Given the description of an element on the screen output the (x, y) to click on. 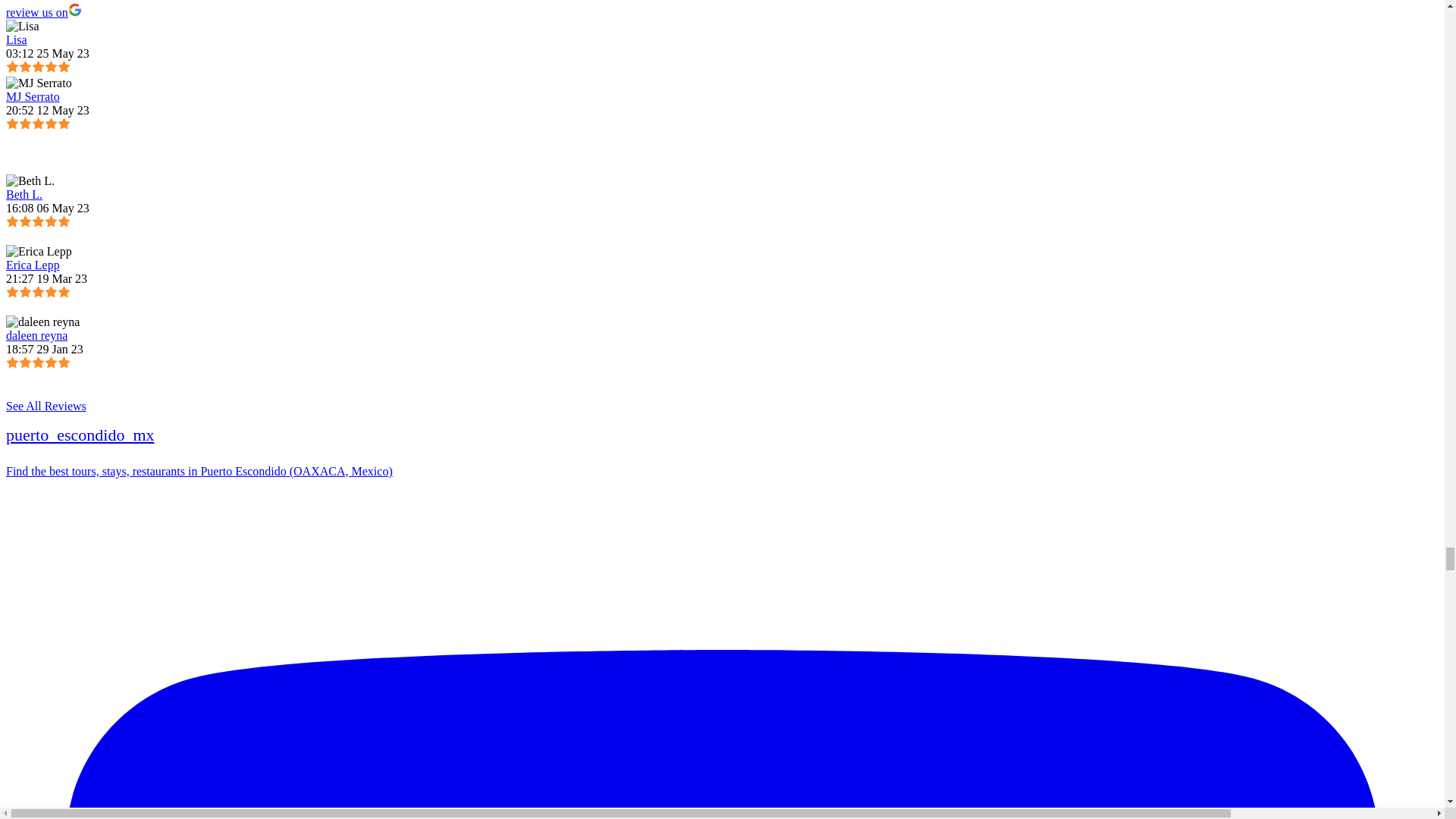
Beth L. (30, 181)
daleen reyna (42, 322)
MJ Serrato (38, 83)
Erica Lepp (38, 251)
Lisa (22, 26)
